Given the description of an element on the screen output the (x, y) to click on. 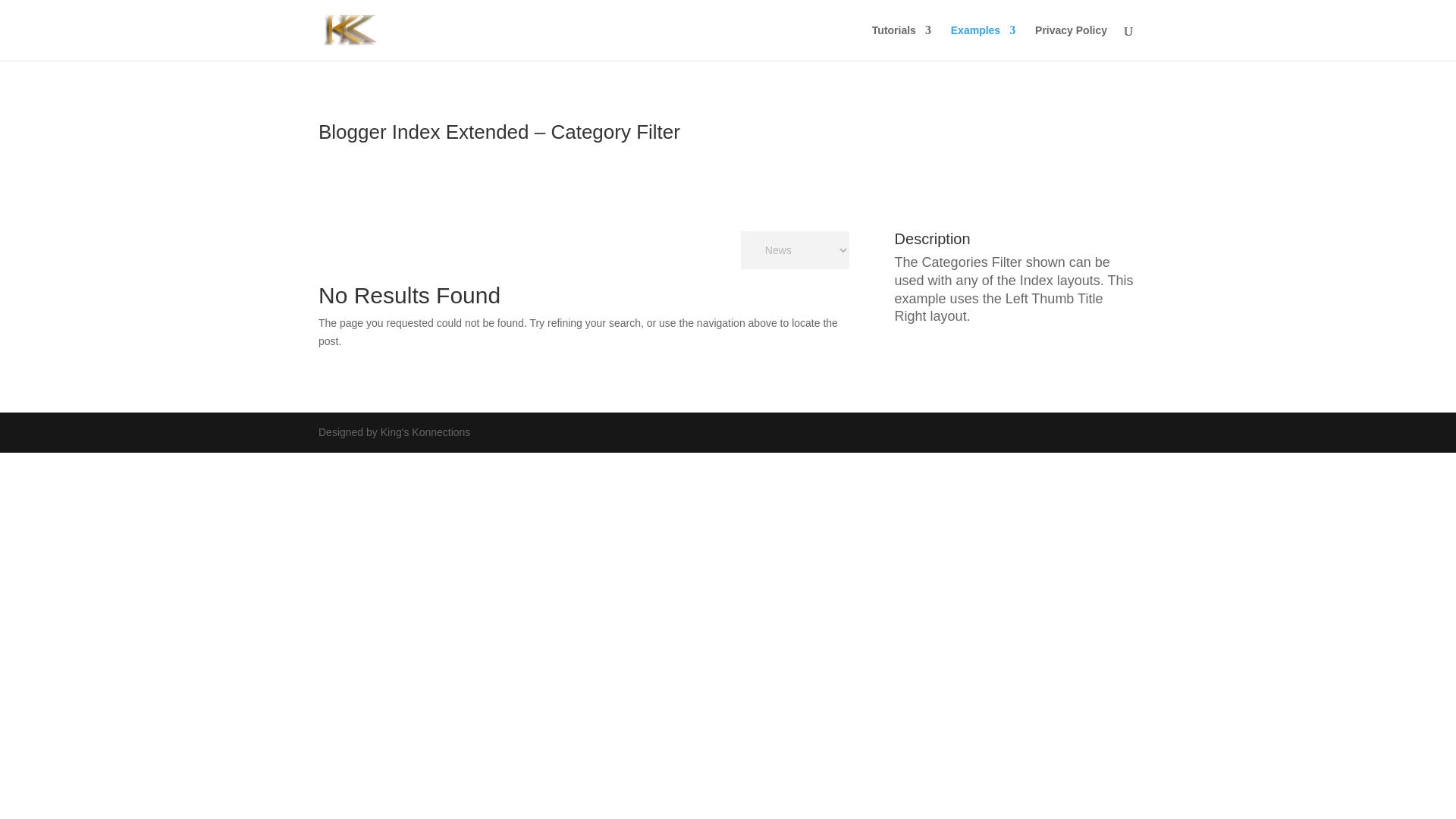
Privacy Policy (1070, 42)
Examples (982, 42)
Tutorials (901, 42)
